Given the description of an element on the screen output the (x, y) to click on. 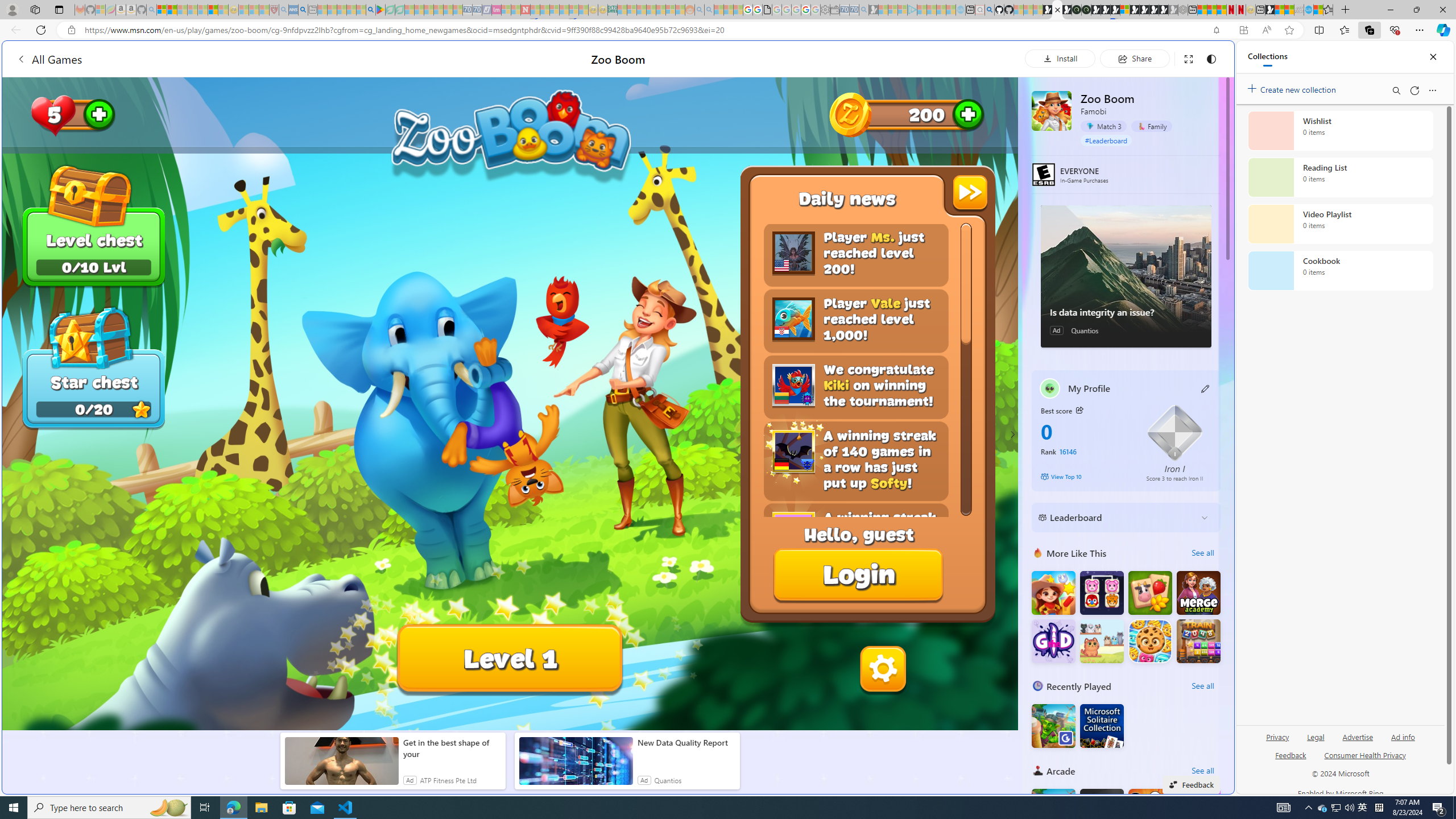
Consumer Health Privacy (1364, 759)
github - Search (988, 9)
Install (1060, 58)
Cookie Connect (1149, 640)
Guess the Drawing (1053, 640)
